Given the description of an element on the screen output the (x, y) to click on. 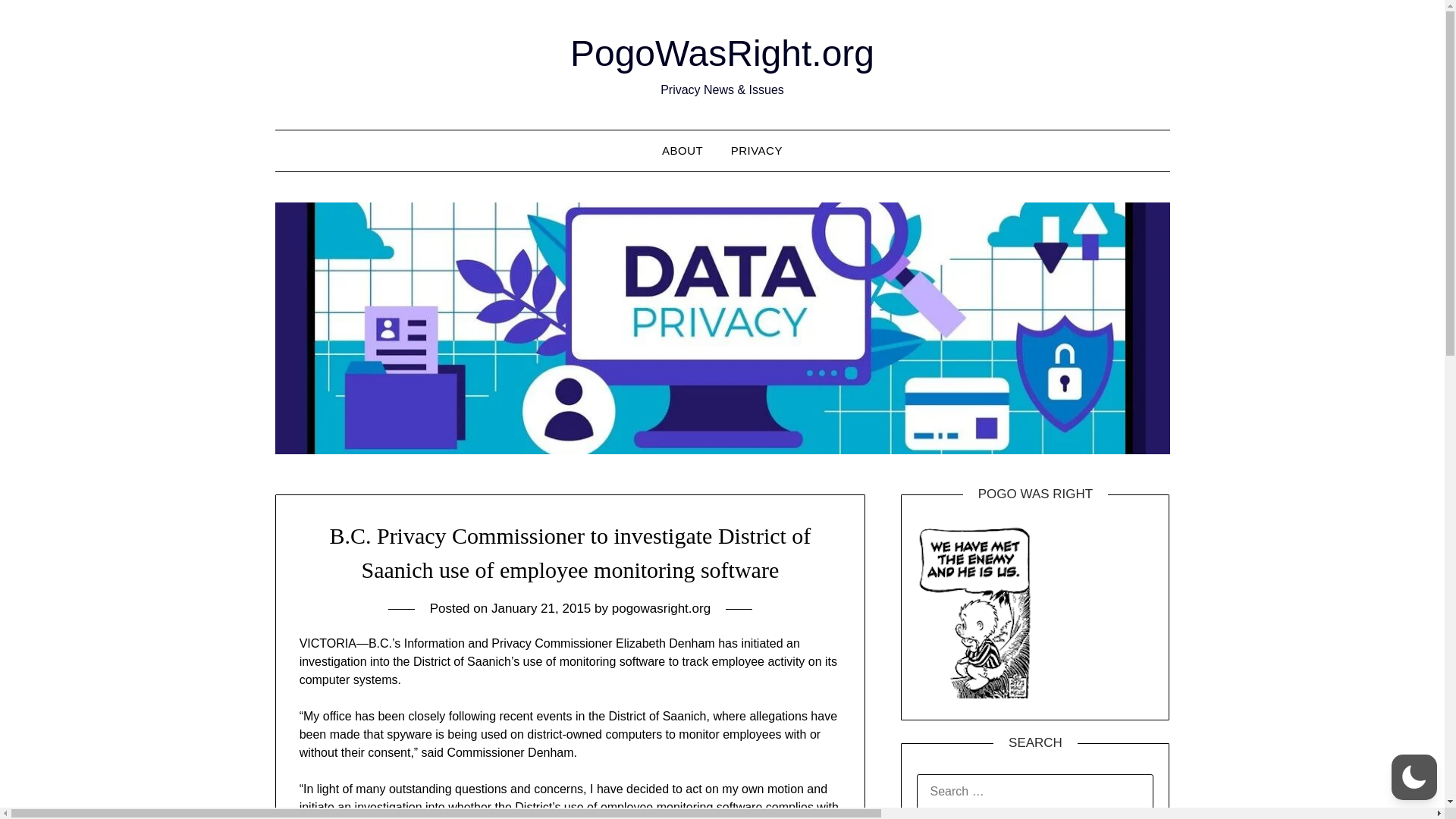
PRIVACY (756, 150)
pogowasright.org (660, 608)
Search (38, 22)
ABOUT (681, 150)
January 21, 2015 (541, 608)
PogoWasRight.org (722, 53)
